Given the description of an element on the screen output the (x, y) to click on. 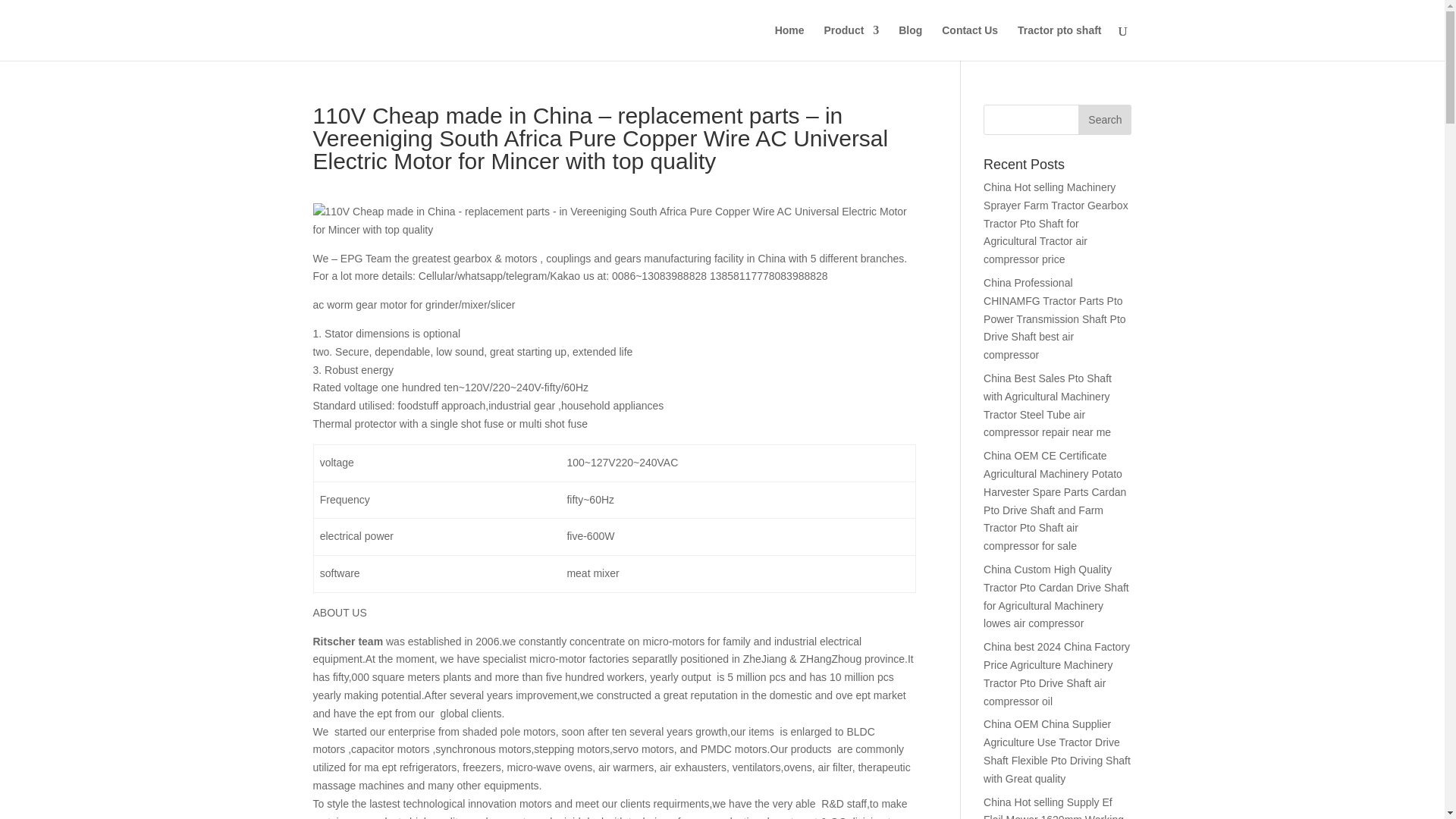
Product (851, 42)
Contact Us (969, 42)
Tractor pto shaft (1058, 42)
Search (1104, 119)
Search (1104, 119)
